Given the description of an element on the screen output the (x, y) to click on. 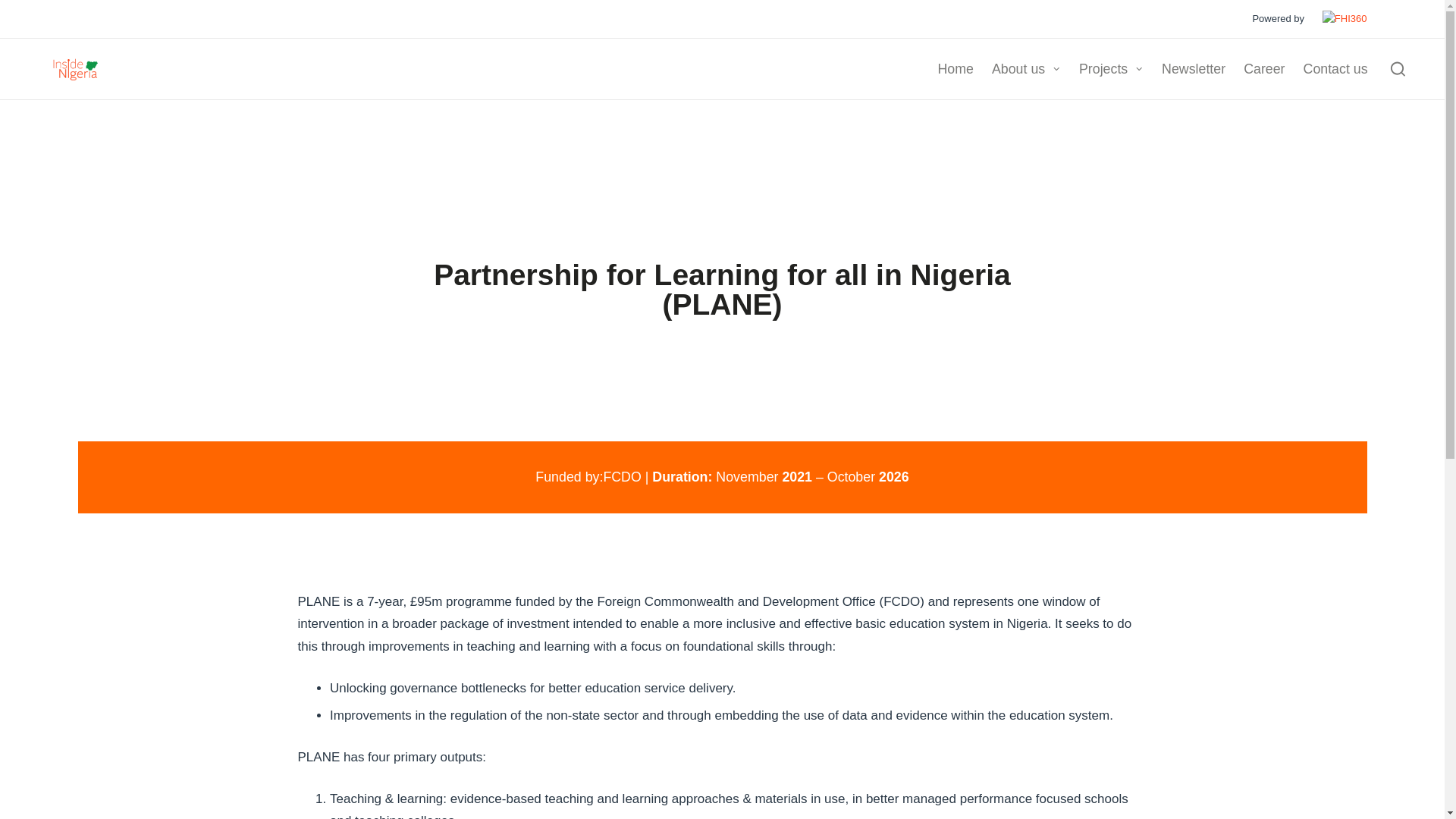
Projects (1110, 69)
Newsletter (1193, 69)
About us (1026, 69)
Contact us (1335, 69)
Career (1263, 69)
Home (954, 69)
